Given the description of an element on the screen output the (x, y) to click on. 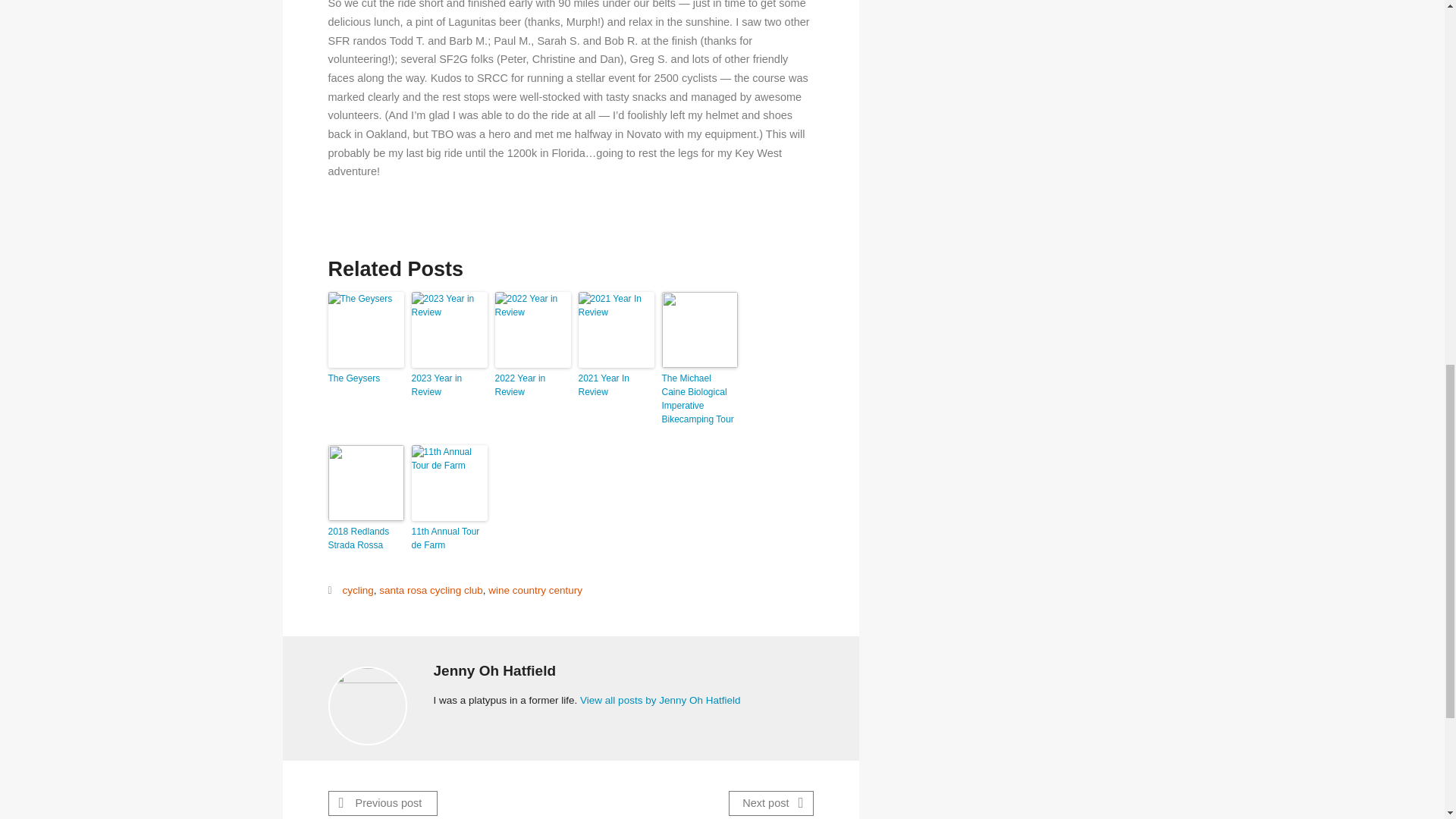
The Michael Caine Biological Imperative Bikecamping Tour (698, 398)
2021 Year In Review (615, 384)
cycling (357, 590)
View all posts by Jenny Oh Hatfield (659, 699)
11th Annual Tour de Farm (448, 538)
2022 Year in Review (532, 384)
wine country century (534, 590)
santa rosa cycling club (430, 590)
2023 Year in Review (448, 384)
2018 Redlands Strada Rossa (365, 538)
